Given the description of an element on the screen output the (x, y) to click on. 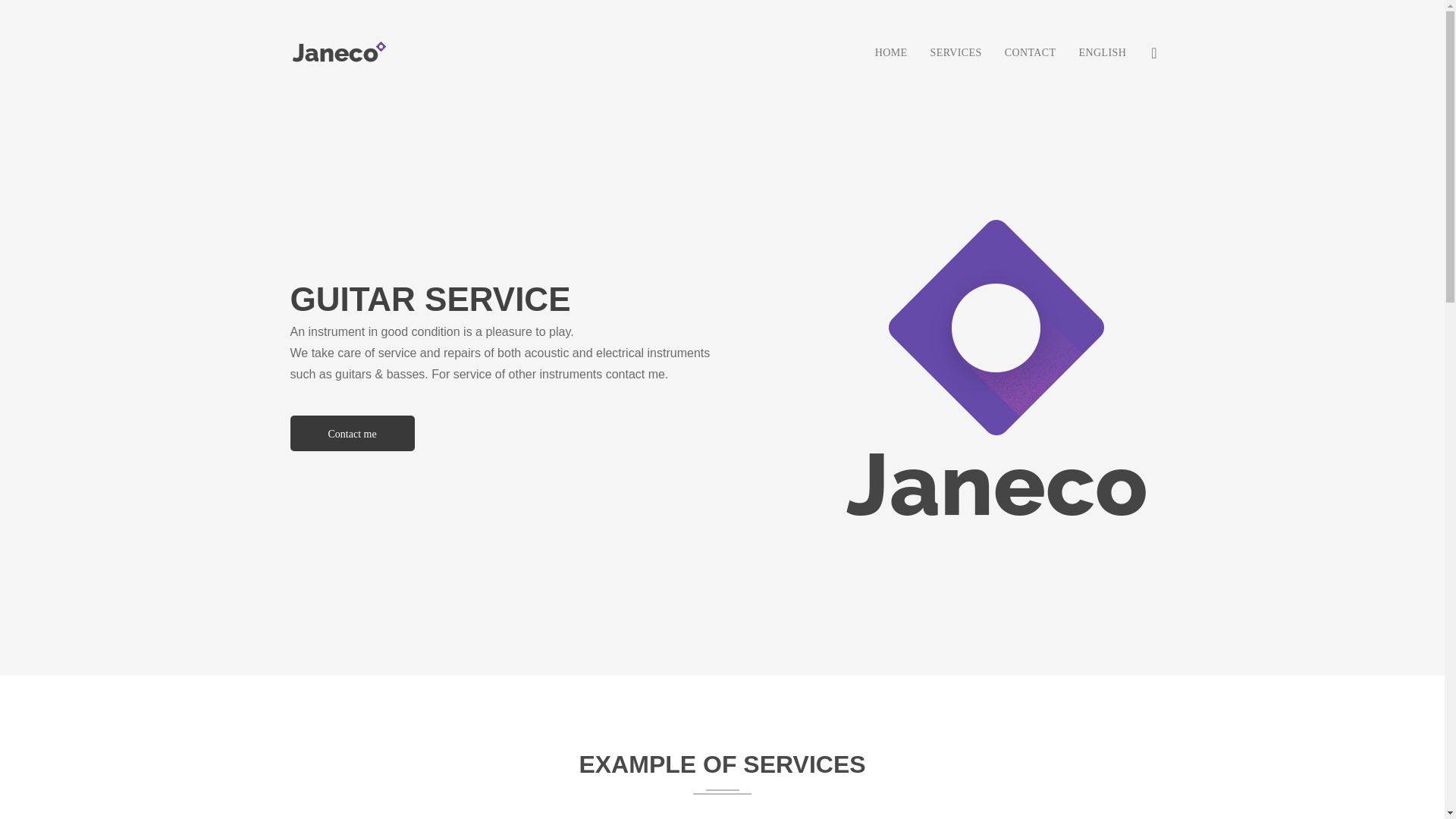
Contact me (511, 433)
Contact me (351, 433)
HOME (890, 52)
ENGLISH (1103, 52)
CONTACT (1030, 52)
SERVICES (955, 52)
